Given the description of an element on the screen output the (x, y) to click on. 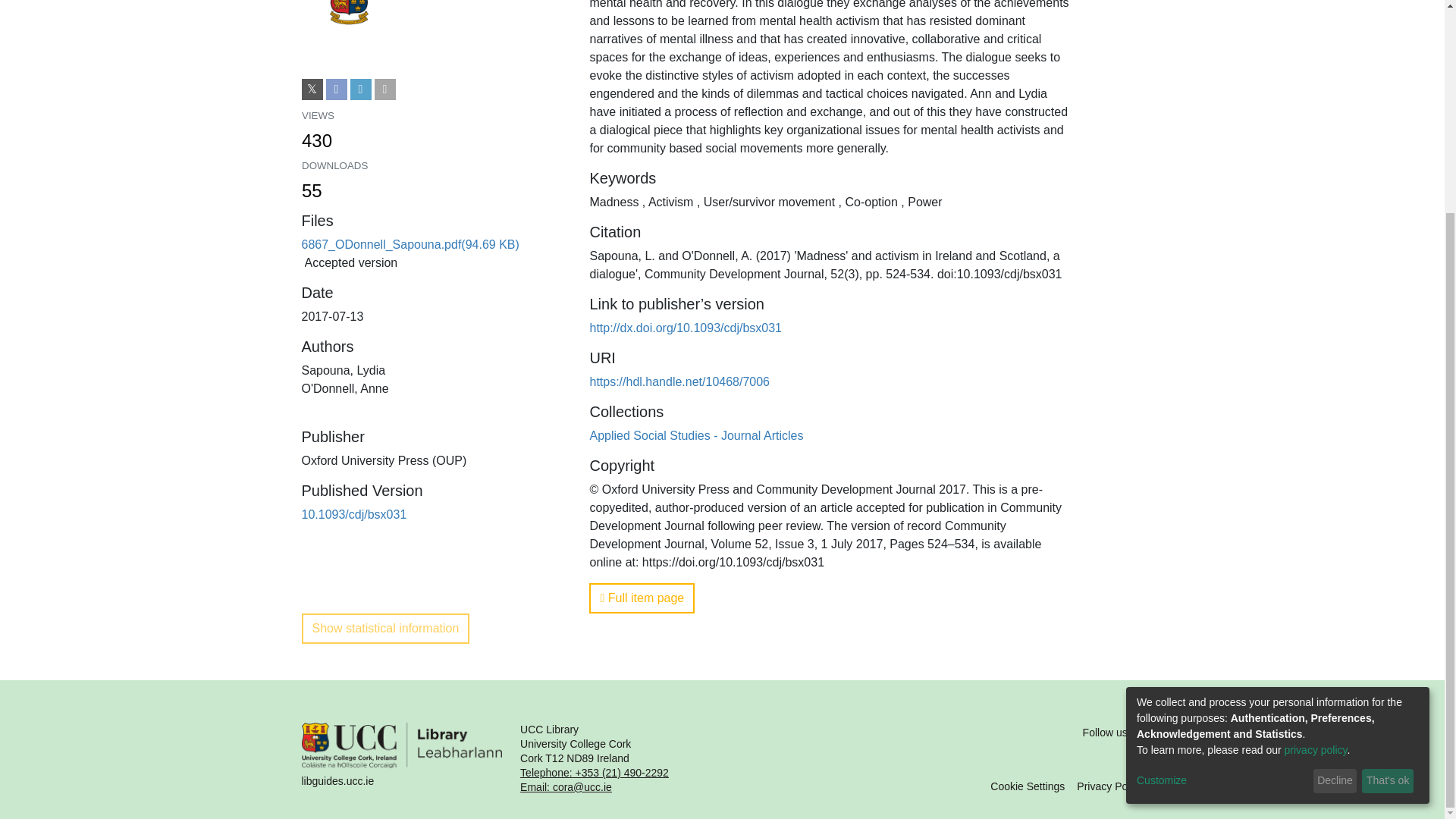
Applied Social Studies - Journal Articles (696, 435)
libguides.ucc.ie (401, 758)
Full item page (641, 598)
Decline (434, 132)
That's ok (1334, 503)
Privacy Policy (1387, 503)
Customize (434, 182)
Show statistical information (1109, 786)
